Given the description of an element on the screen output the (x, y) to click on. 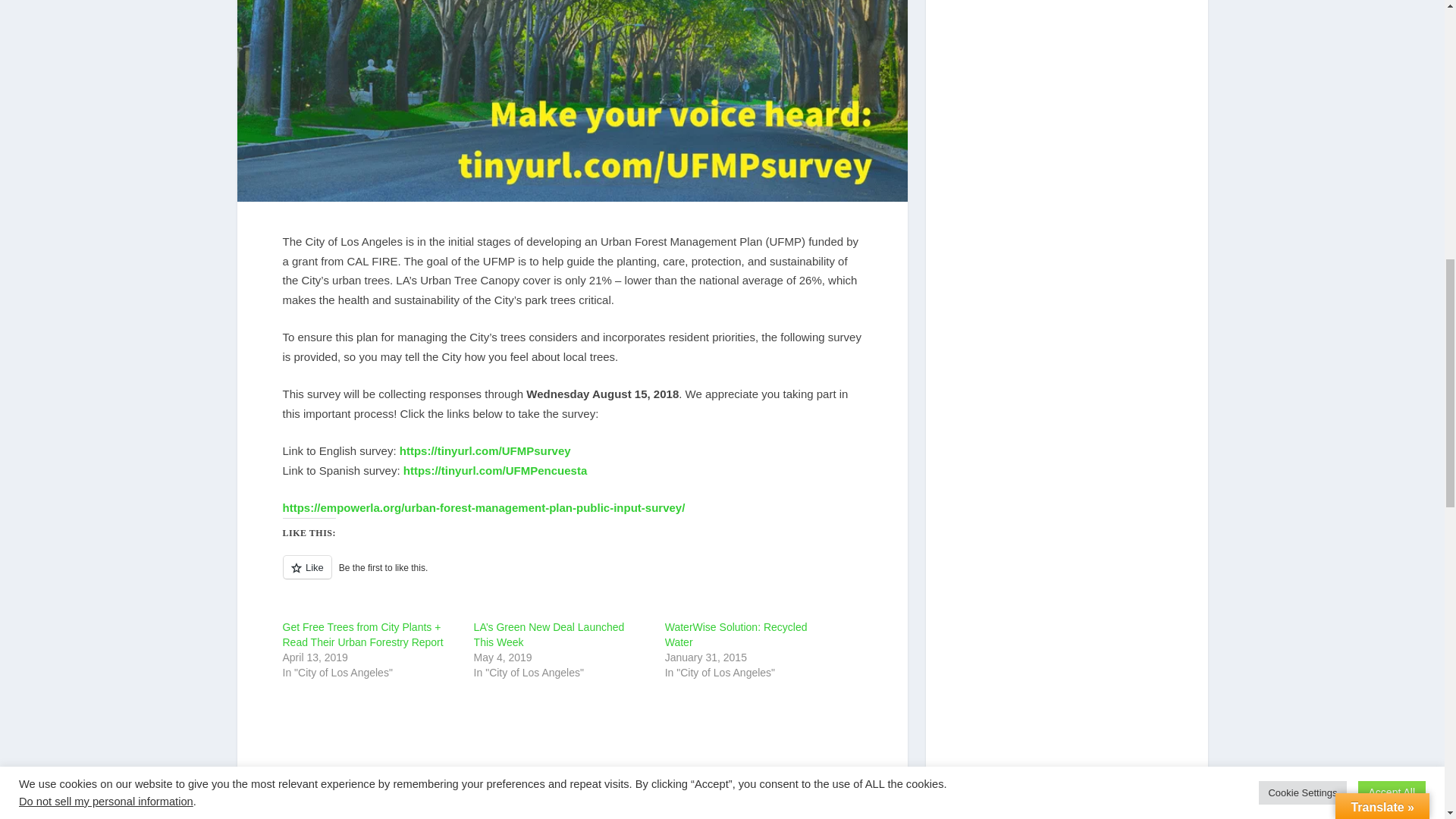
Like or Reblog (571, 576)
WaterWise Solution: Recycled Water (736, 634)
